Given the description of an element on the screen output the (x, y) to click on. 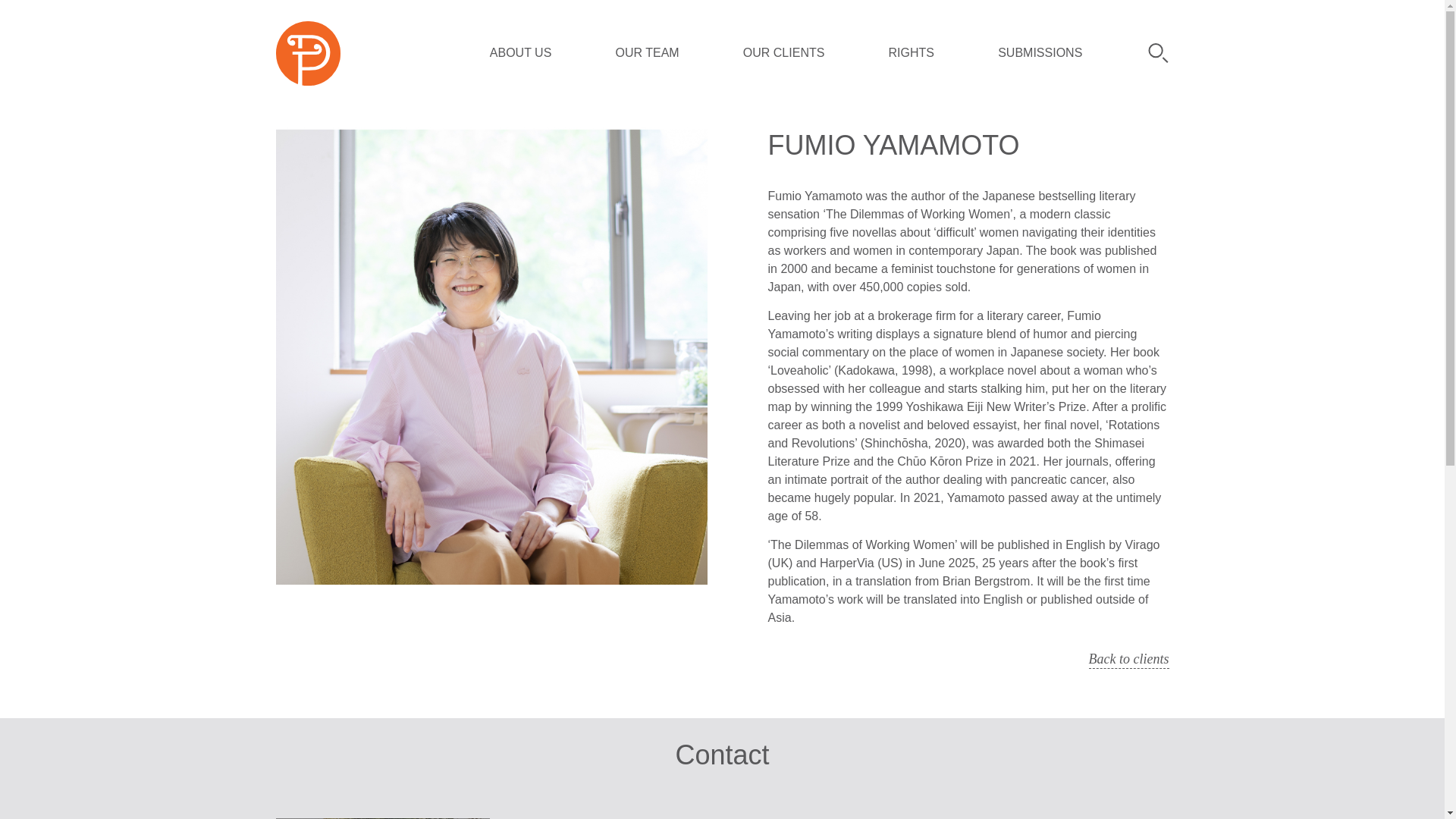
RIGHTS (1129, 660)
OUR CLIENTS (911, 53)
SUBMISSIONS (783, 53)
ABOUT US (1039, 53)
OUR TEAM (520, 53)
